Given the description of an element on the screen output the (x, y) to click on. 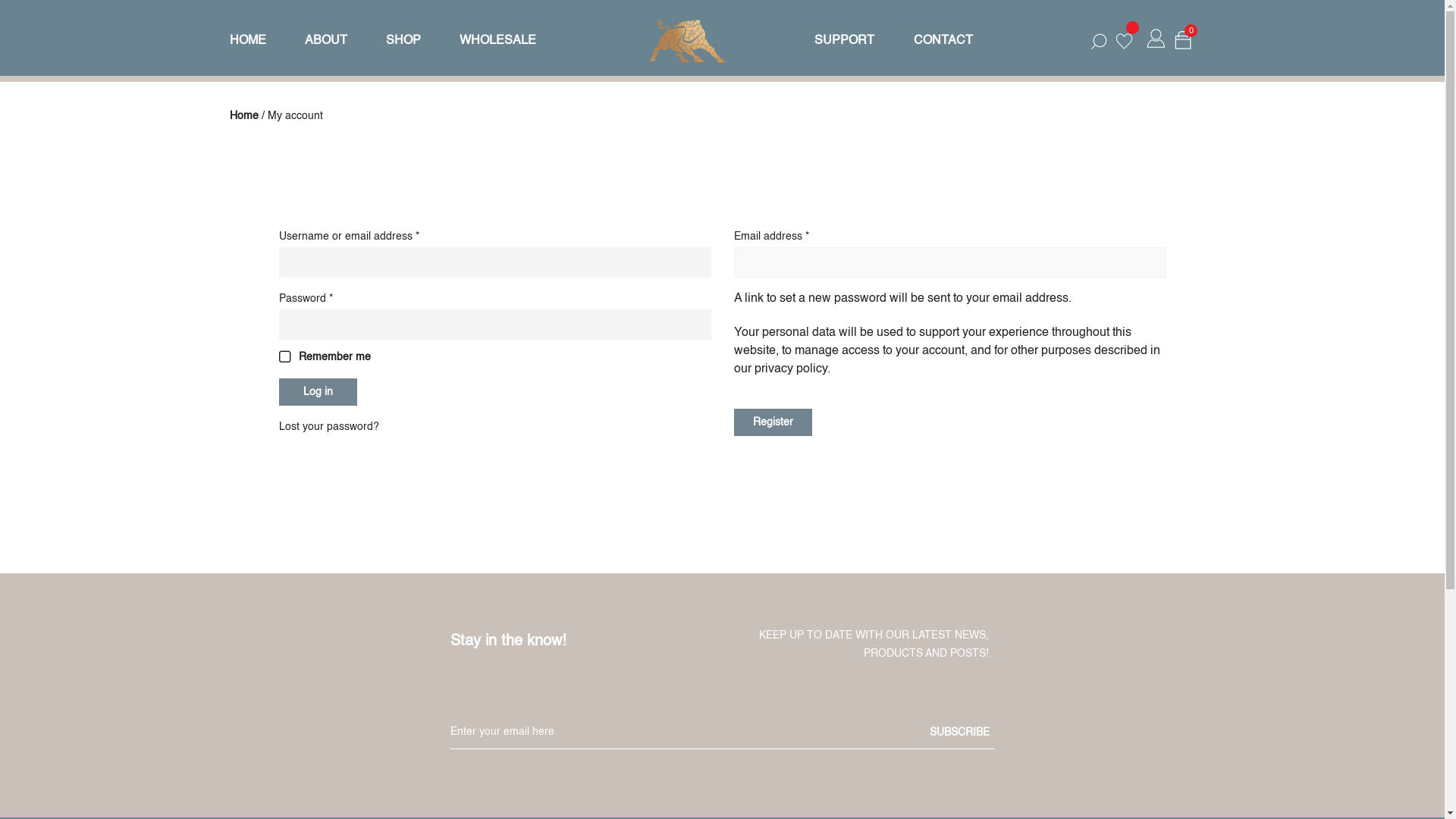
ABOUT Element type: text (325, 40)
Lost your password? Element type: text (329, 426)
Log in Element type: text (318, 391)
CONTACT Element type: text (938, 37)
SUBSCRIBE Element type: text (959, 732)
0 Element type: text (1184, 37)
SHOP Element type: text (403, 40)
SUPPORT Element type: text (839, 37)
privacy policy Element type: text (789, 369)
Home Element type: text (243, 115)
Register Element type: text (773, 422)
HOME Element type: text (257, 40)
WHOLESALE Element type: text (497, 40)
